Given the description of an element on the screen output the (x, y) to click on. 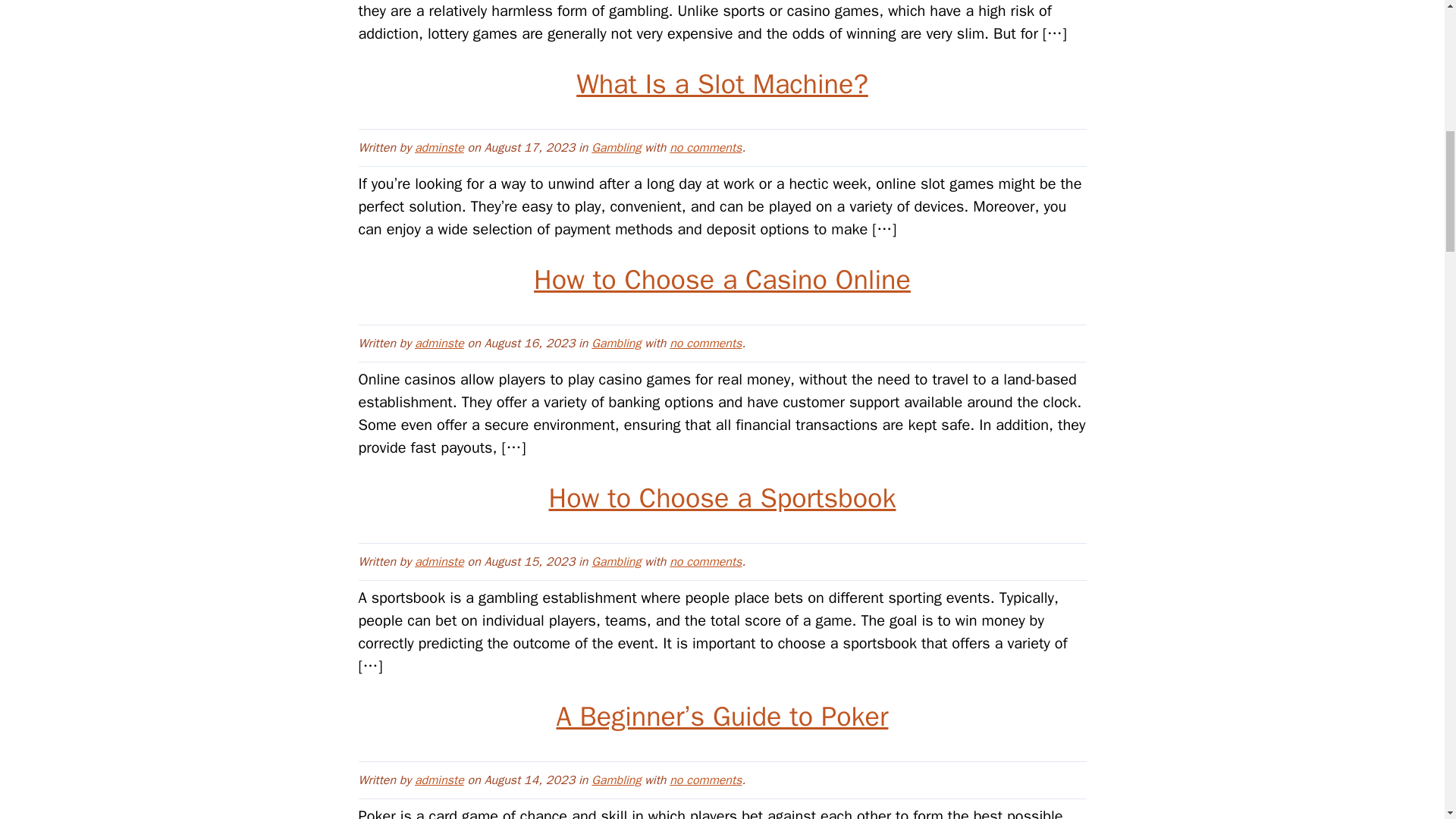
no comments (705, 147)
adminste (439, 780)
no comments (705, 561)
What Is a Slot Machine? (722, 83)
Gambling (615, 561)
Gambling (615, 147)
Gambling (615, 780)
adminste (439, 561)
no comments (705, 343)
adminste (439, 147)
no comments (705, 561)
no comments (705, 147)
adminste (439, 343)
no comments (705, 780)
How to Choose a Sportsbook (722, 497)
